Given the description of an element on the screen output the (x, y) to click on. 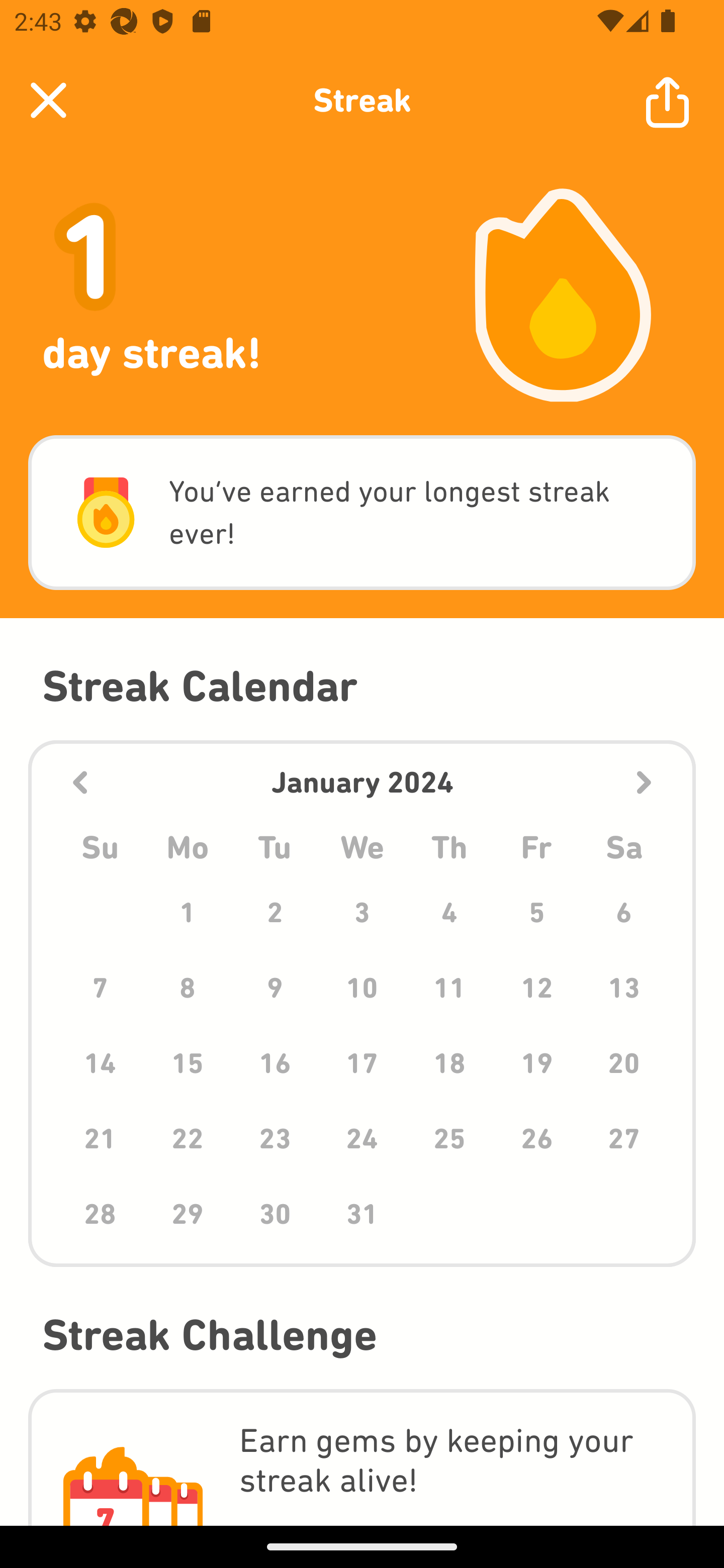
You’ve earned your longest streak ever! (361, 512)
